Given the description of an element on the screen output the (x, y) to click on. 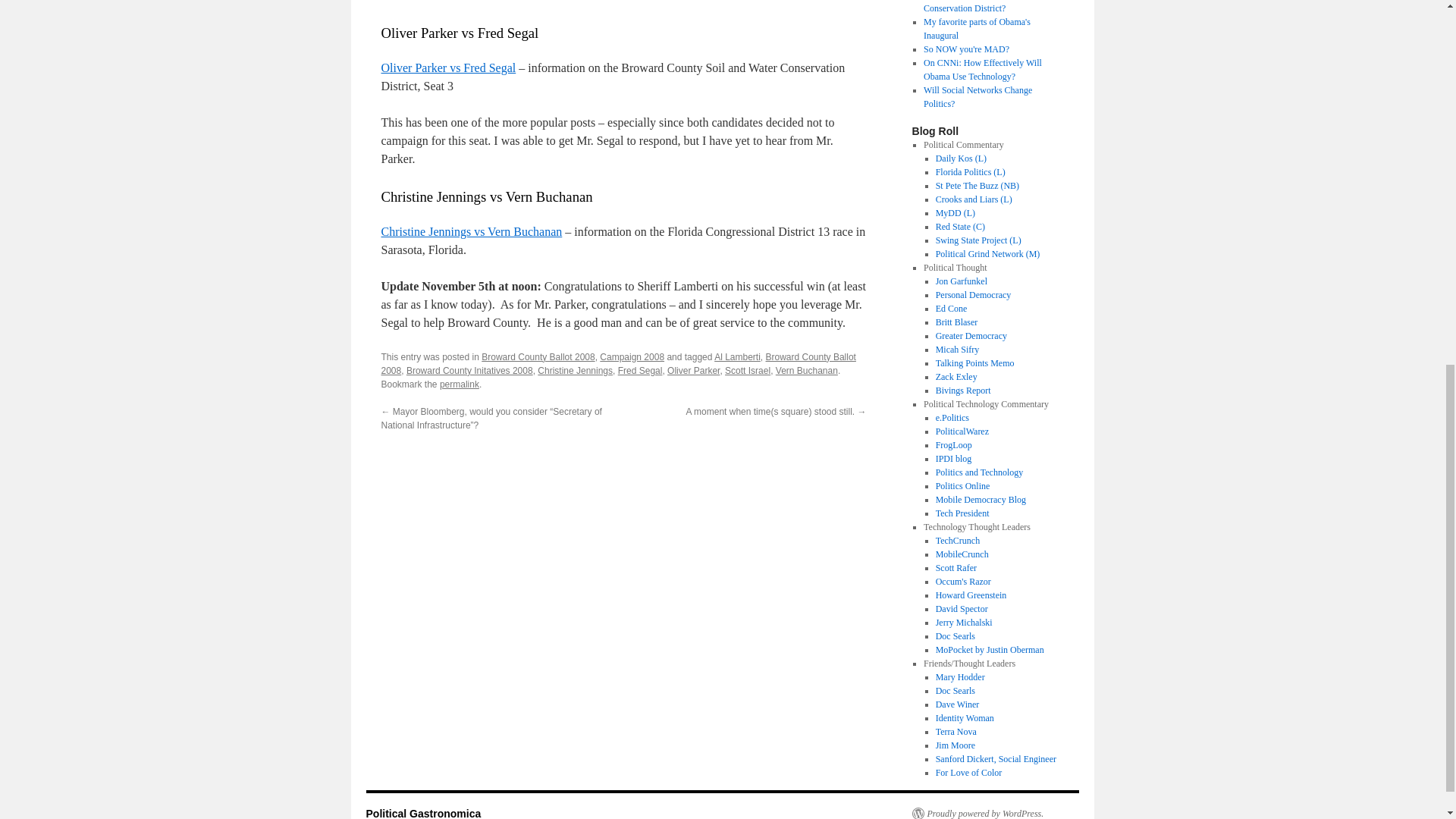
Broward County Ballot 2008 (618, 363)
On CNNi: How Effectively Will Obama Use Technology? (982, 69)
permalink (459, 384)
Oliver Parker (692, 370)
Al Lamberti (737, 357)
My favorite parts of Obama's Inaugural (976, 28)
Vern Buchanan (807, 370)
Permalink to Florida Election Ballot Special (459, 384)
Fred Segal (639, 370)
Broward County Ballot 2008 (537, 357)
Will Social Networks Change Politics? (977, 96)
Scott Israel (747, 370)
Christine Jennings vs Vern Buchanan (471, 231)
So NOW you're MAD? (966, 49)
Christine Jennings (574, 370)
